Given the description of an element on the screen output the (x, y) to click on. 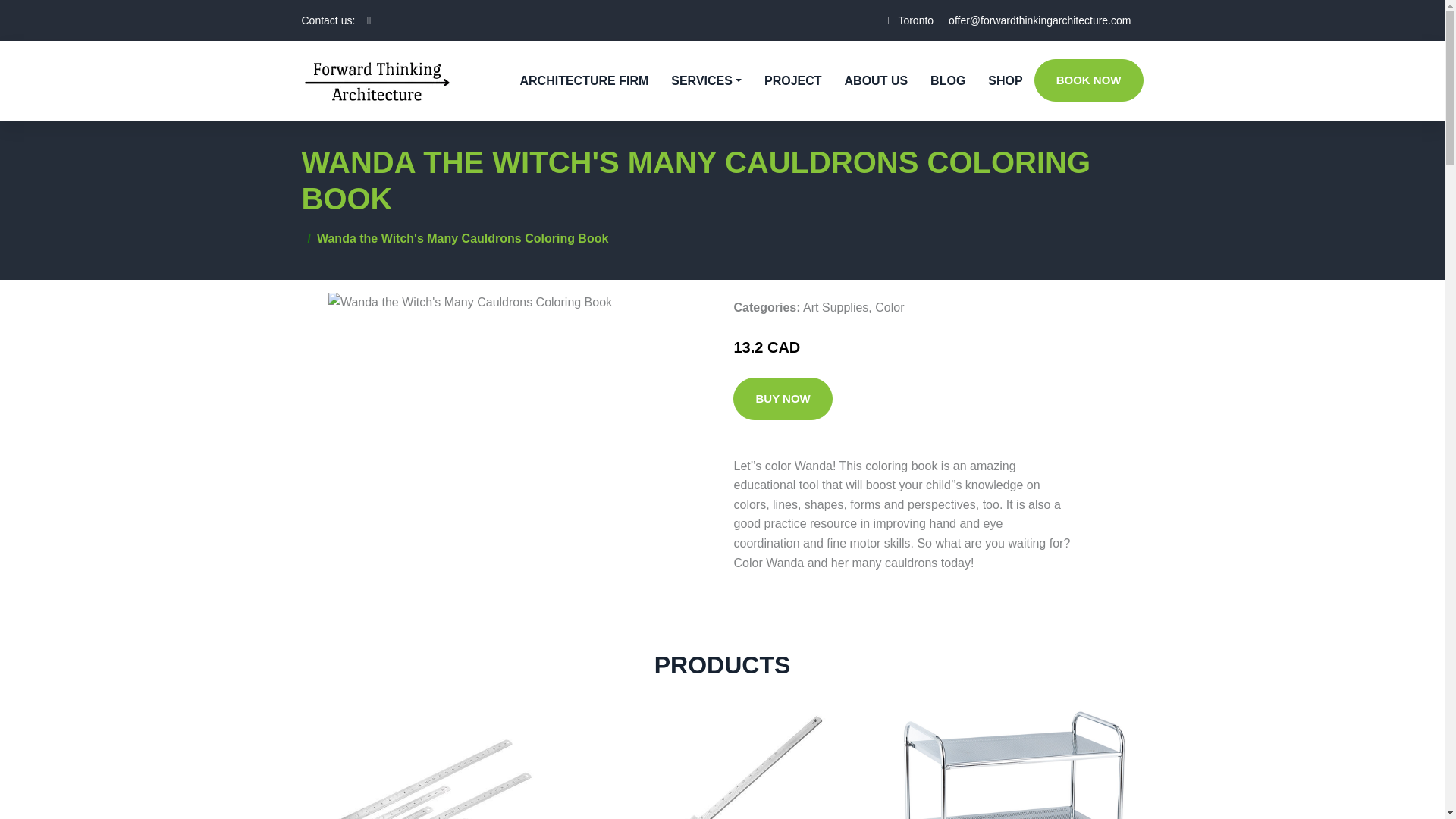
Art Supplies (835, 307)
ARCHITECTURE FIRM (583, 80)
BOOK NOW (1087, 79)
SERVICES (705, 80)
Color (889, 307)
PROJECT (792, 80)
Toronto (915, 20)
ABOUT US (876, 80)
BUY NOW (782, 398)
